Given the description of an element on the screen output the (x, y) to click on. 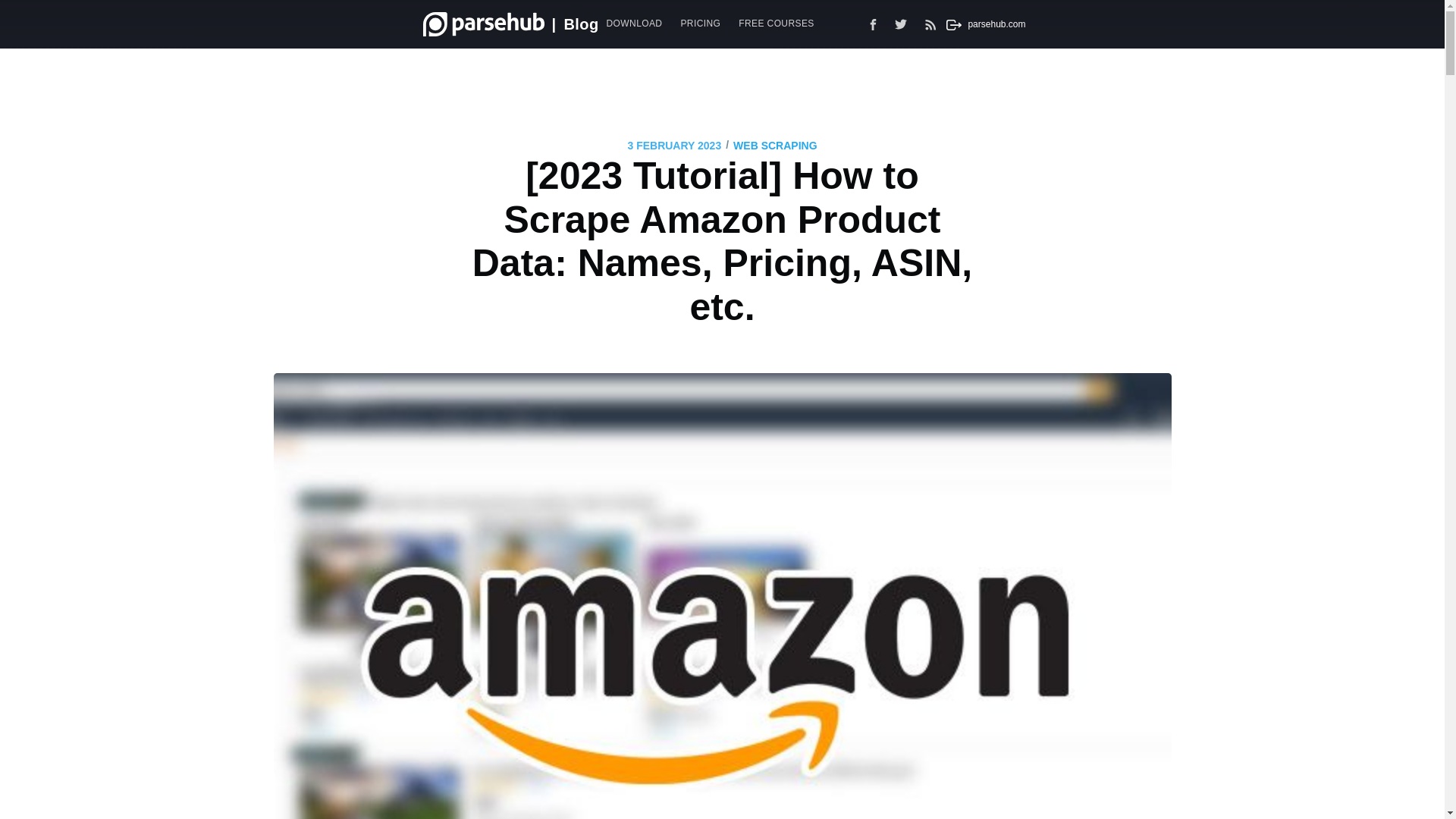
Facebook (873, 23)
DOWNLOAD (633, 23)
PRICING (700, 23)
Twitter (904, 23)
WEB SCRAPING (774, 145)
parsehub.com (983, 24)
FREE COURSES (775, 23)
